Given the description of an element on the screen output the (x, y) to click on. 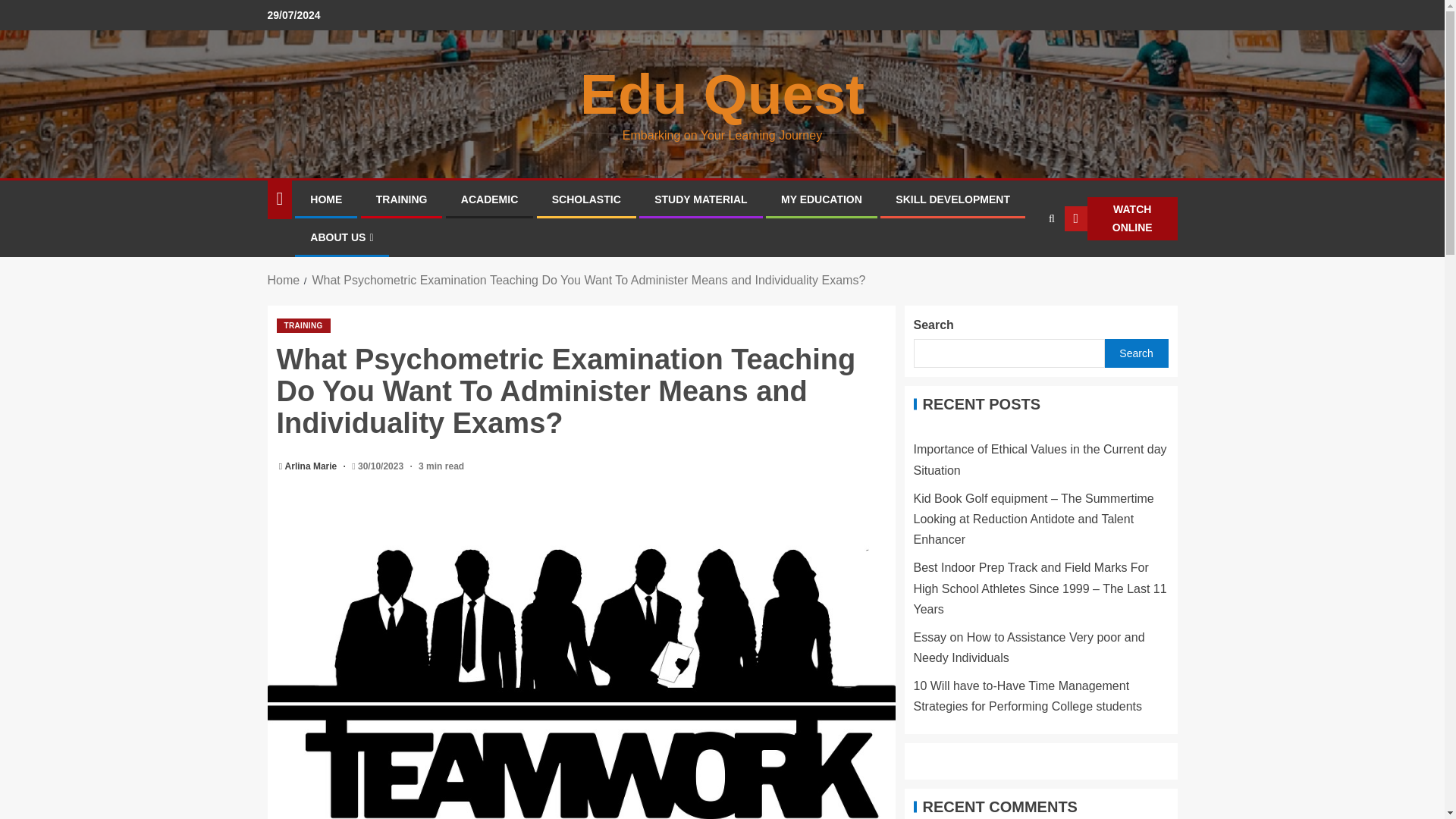
TRAINING (401, 199)
TRAINING (303, 325)
MY EDUCATION (820, 199)
Edu Quest (721, 94)
ABOUT US (341, 236)
Arlina Marie (312, 466)
SKILL DEVELOPMENT (952, 199)
STUDY MATERIAL (699, 199)
HOME (326, 199)
Home (282, 279)
WATCH ONLINE (1120, 218)
ACADEMIC (489, 199)
SCHOLASTIC (586, 199)
